Given the description of an element on the screen output the (x, y) to click on. 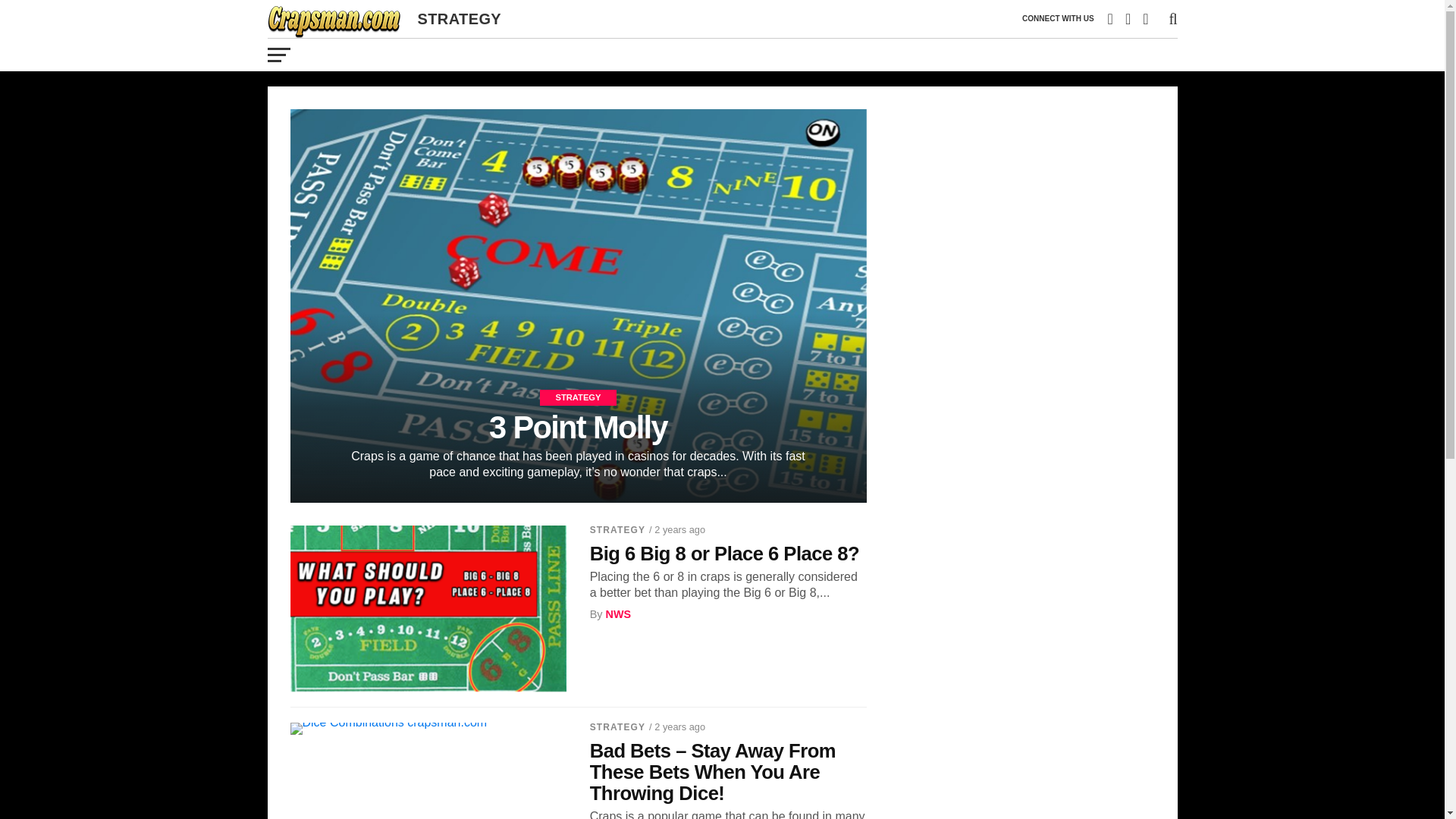
Posts by NWS (617, 613)
Big 6 Big 8 or Place 6 Place 8? (727, 553)
NWS (617, 613)
STRATEGY (617, 726)
STRATEGY (617, 529)
